Given the description of an element on the screen output the (x, y) to click on. 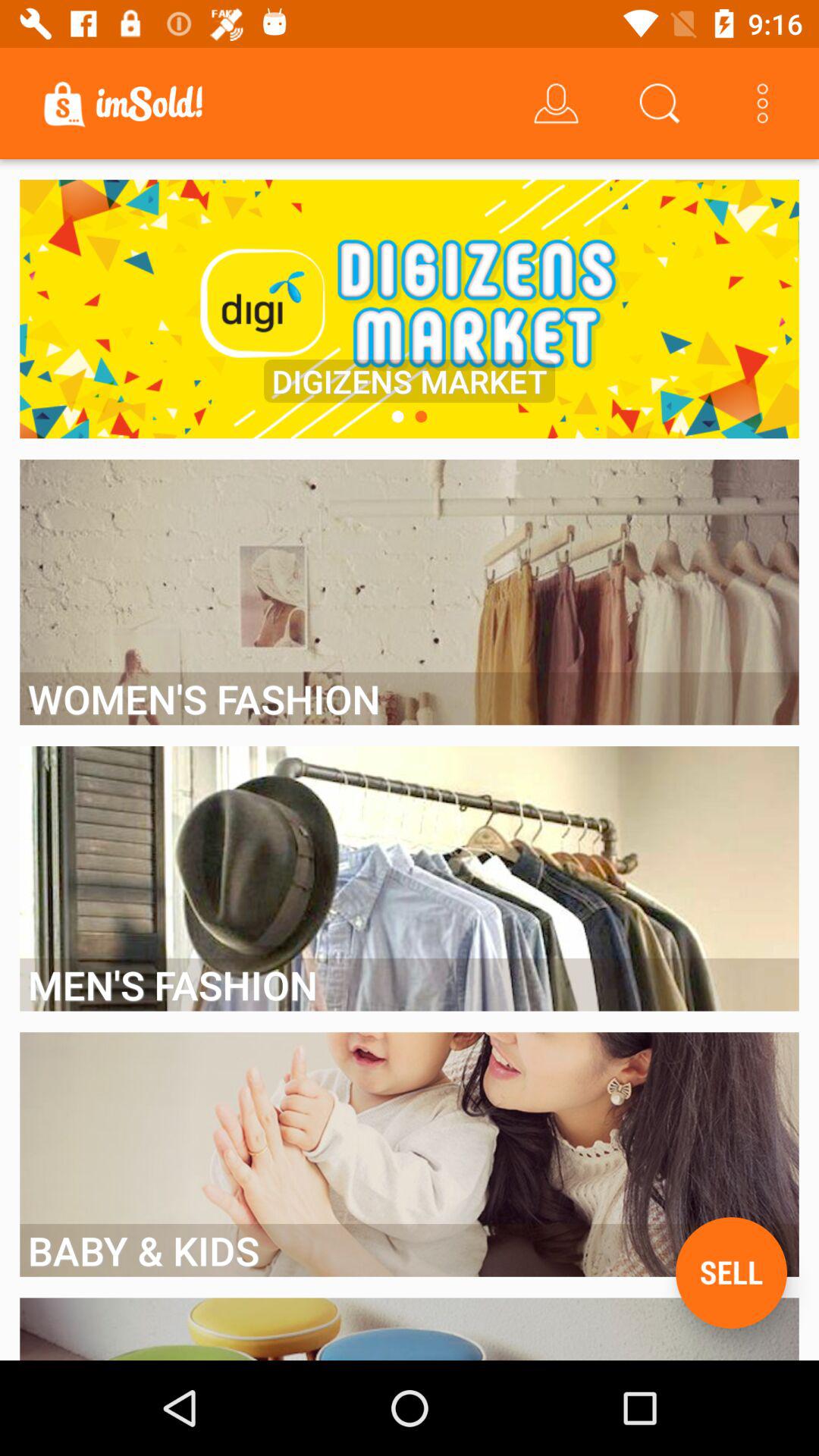
turn off the icon below the digizens market item (420, 416)
